Given the description of an element on the screen output the (x, y) to click on. 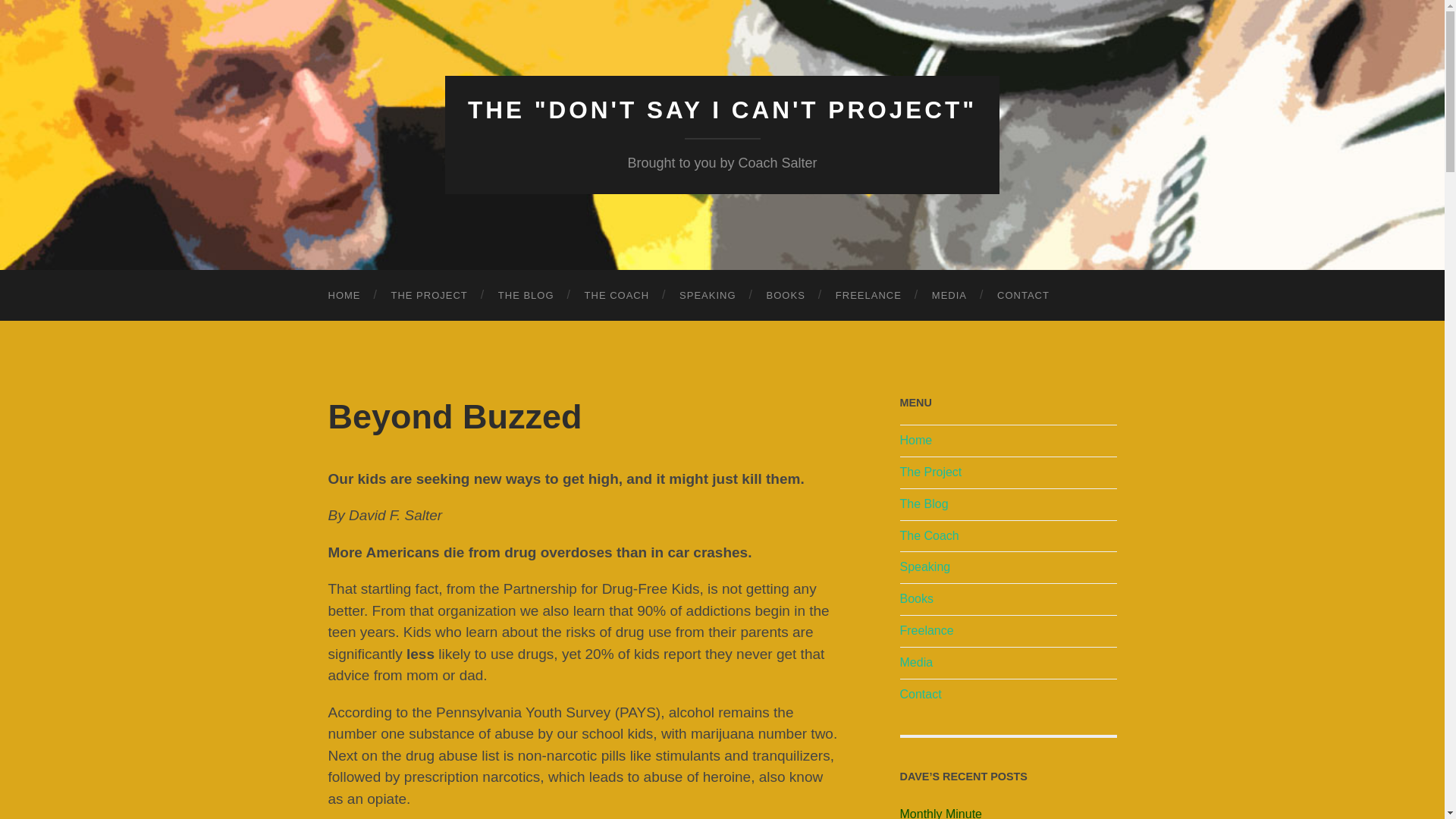
Freelance (926, 630)
CONTACT (1022, 295)
THE PROJECT (429, 295)
Books (916, 598)
THE "DON'T SAY I CAN'T PROJECT" (721, 109)
BOOKS (786, 295)
MEDIA (949, 295)
SPEAKING (707, 295)
Media (916, 662)
Speaking (924, 566)
